Given the description of an element on the screen output the (x, y) to click on. 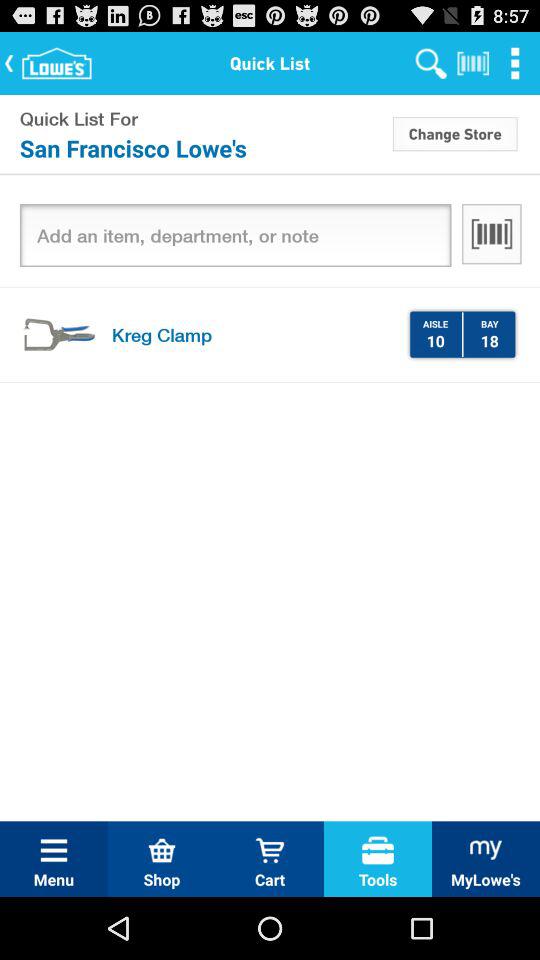
launch icon next to kreg clamp (58, 334)
